Given the description of an element on the screen output the (x, y) to click on. 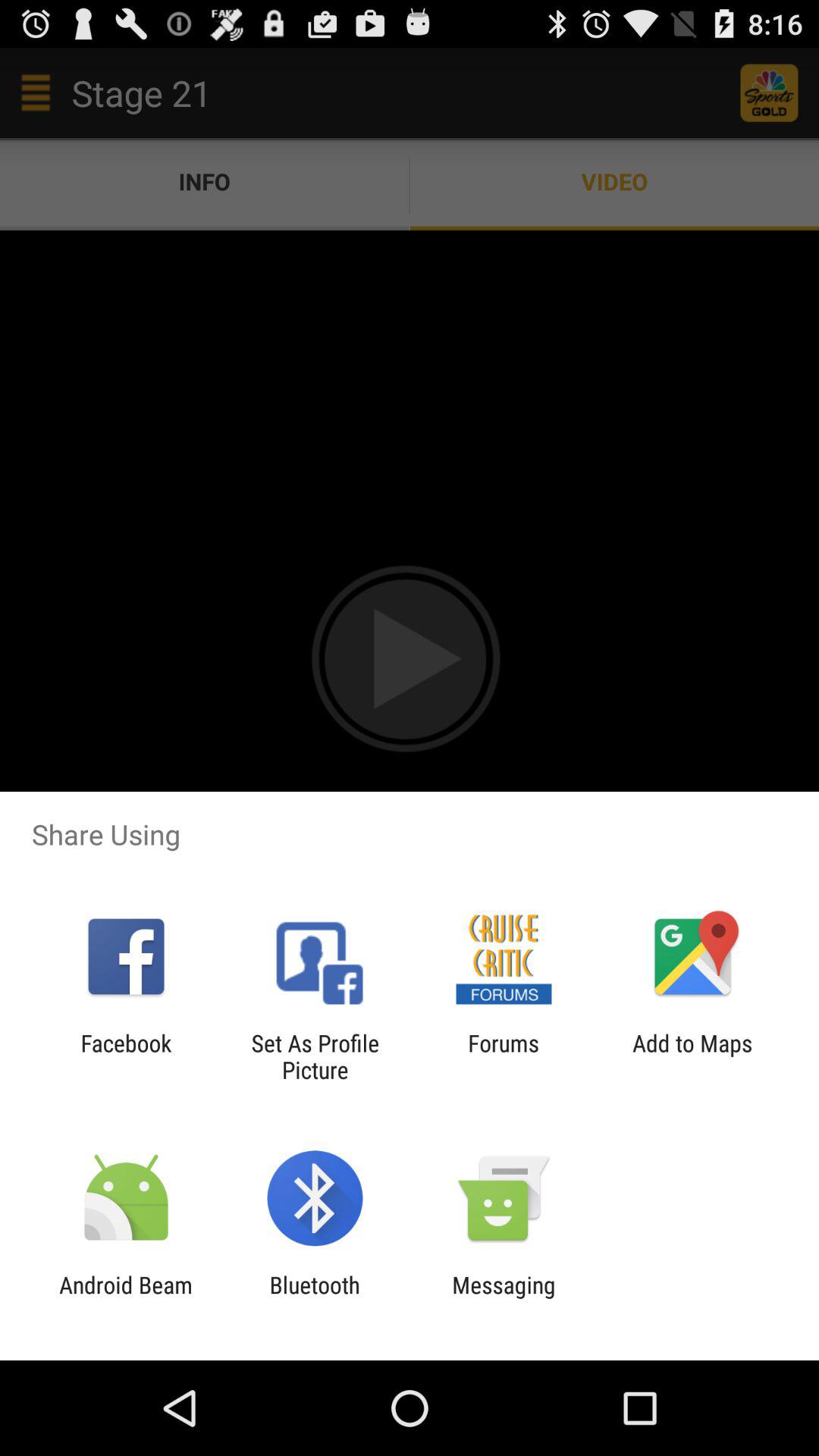
tap icon to the right of the set as profile item (503, 1056)
